Given the description of an element on the screen output the (x, y) to click on. 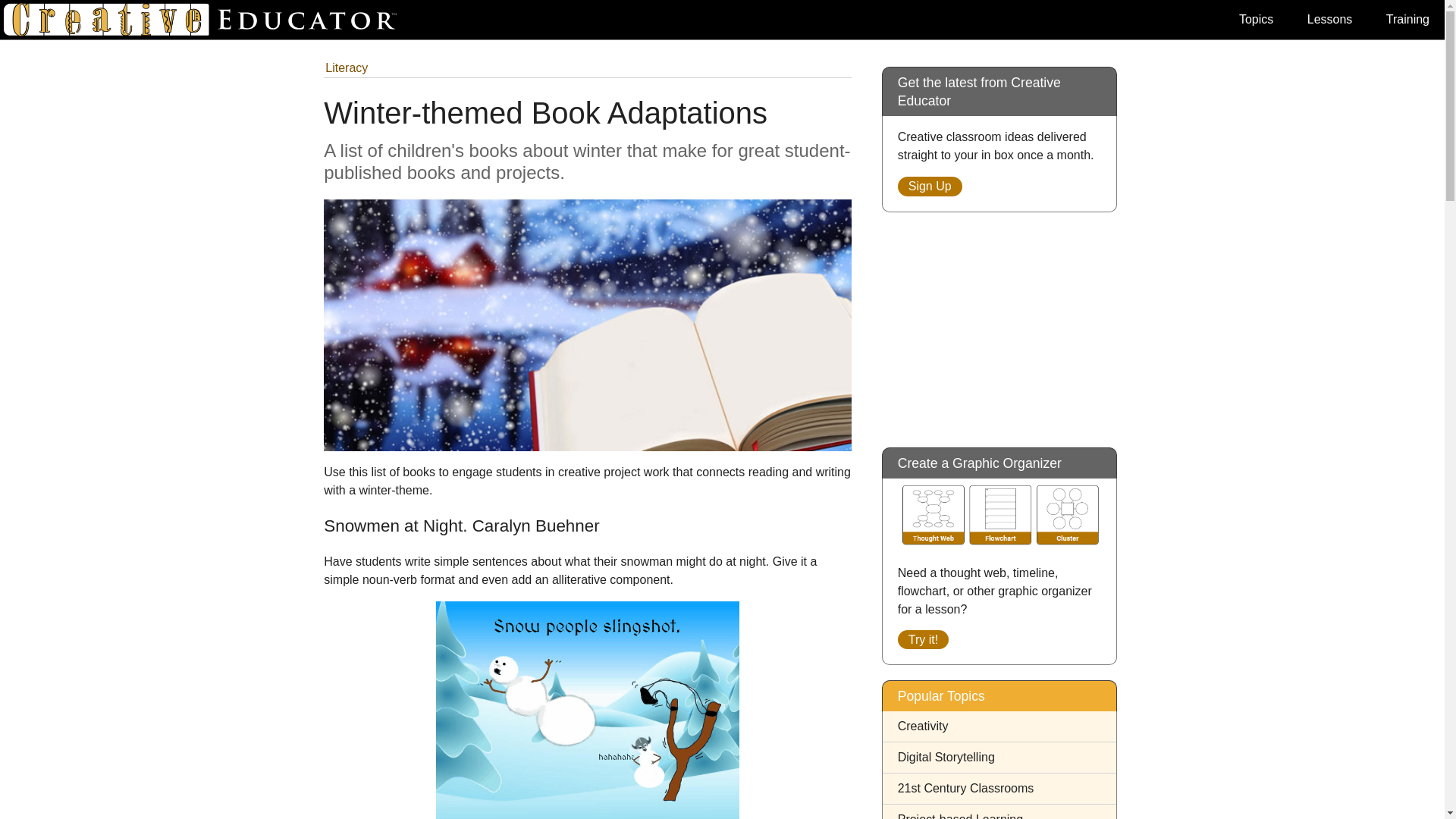
Project-based Learning (960, 816)
Creative Educator (206, 20)
21st Century Classrooms (965, 788)
Advertisement (999, 321)
Try it! (923, 639)
Literacy (346, 67)
Digital Storytelling (946, 757)
Go to Home Page (206, 19)
Sign Up (930, 186)
Creativity (923, 725)
